Given the description of an element on the screen output the (x, y) to click on. 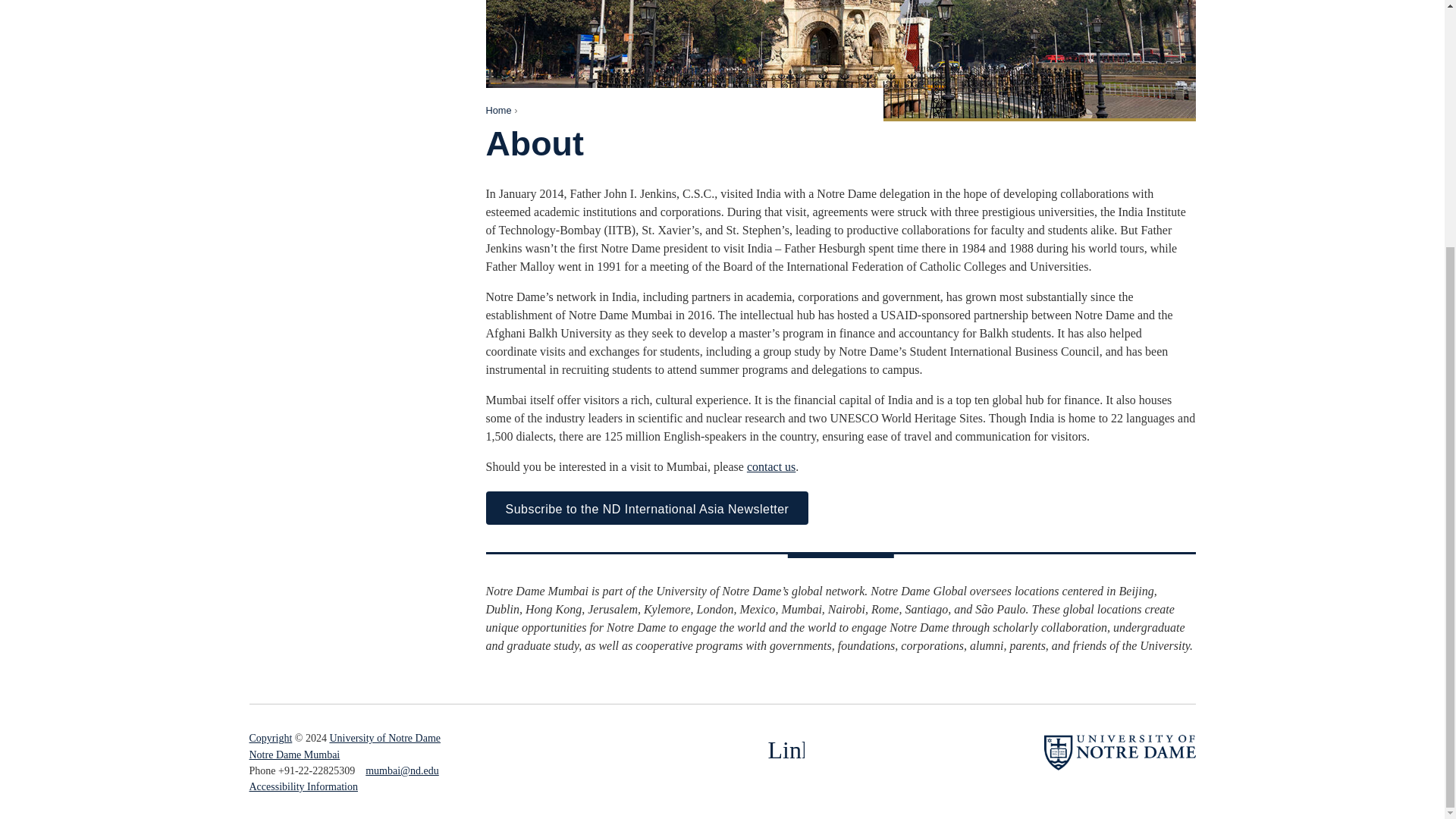
Subscribe to the ND International Asia Newsletter (646, 507)
Home (497, 110)
Instagram (740, 750)
LinkedIn (785, 750)
University of Notre Dame (385, 737)
Copyright (270, 737)
contact us (770, 466)
Notre Dame Mumbai (293, 754)
Accessibility Information (302, 786)
